Given the description of an element on the screen output the (x, y) to click on. 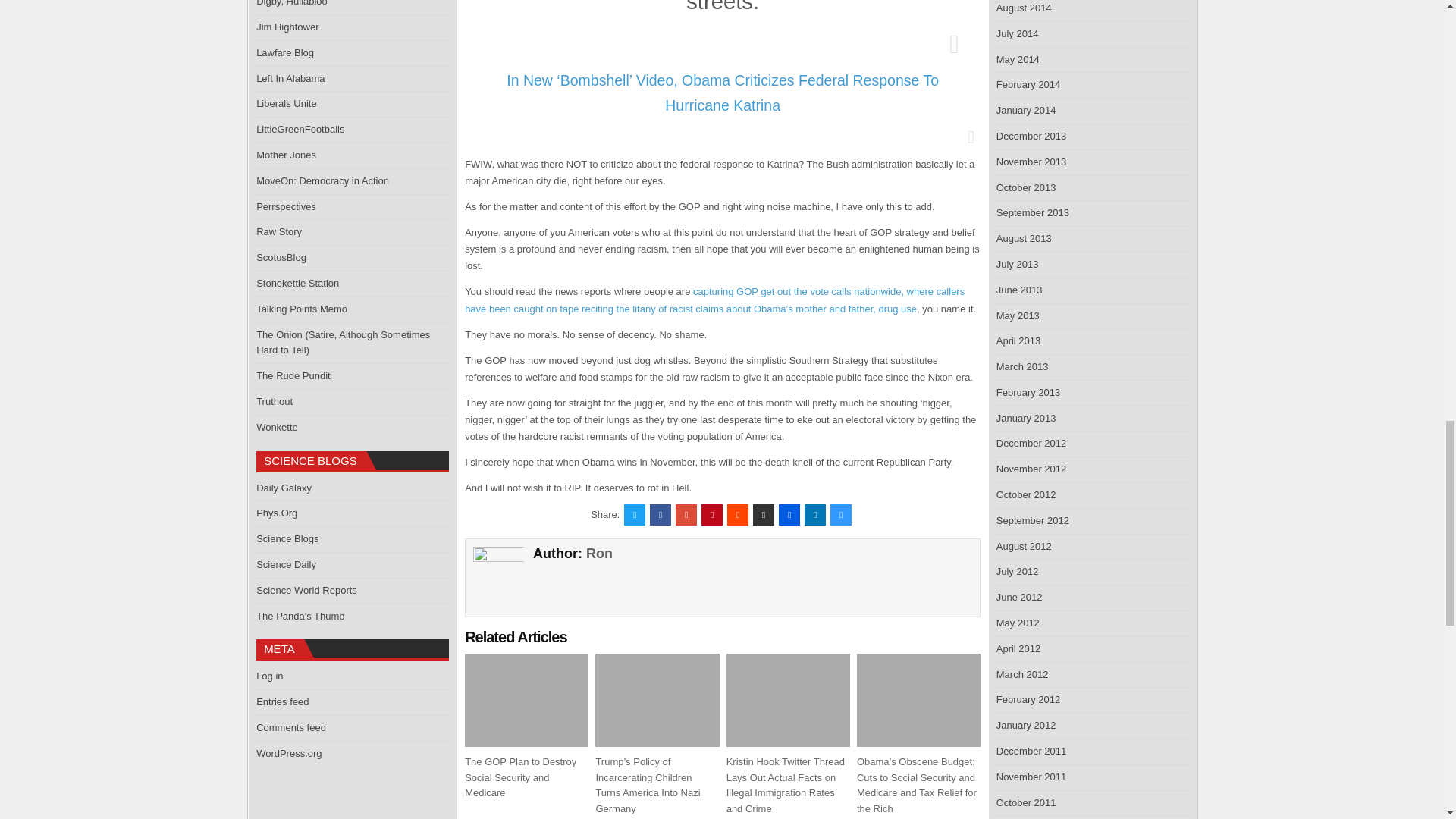
Ron (599, 553)
Share this on Pinterest (711, 514)
The GOP Plan to Destroy Social Security and Medicare (520, 777)
Share this on Delicious (840, 514)
Share this on Reddit (737, 514)
Share this on Linkedin (815, 514)
Tweet This! (634, 514)
